Given the description of an element on the screen output the (x, y) to click on. 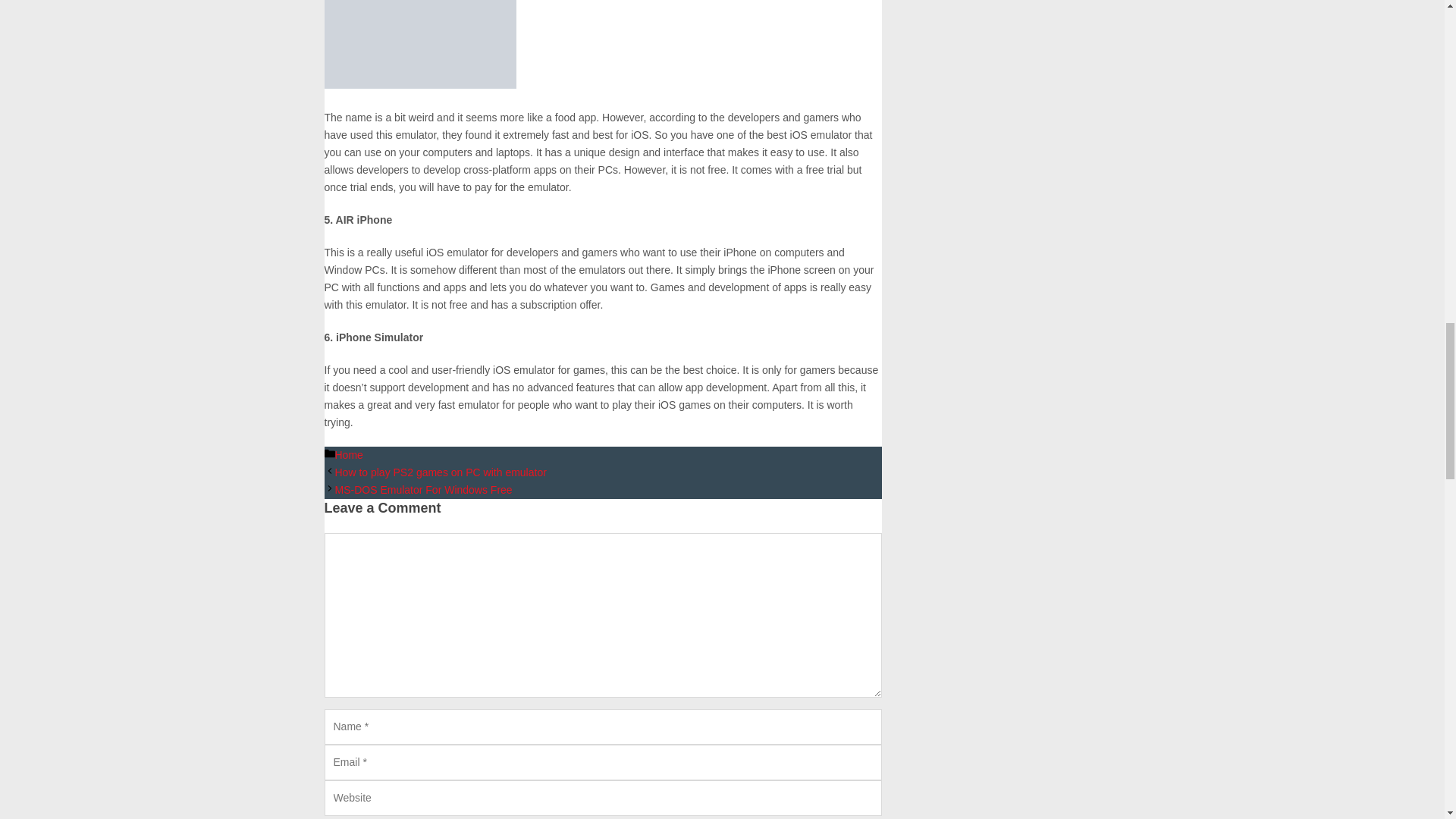
MS-DOS Emulator For Windows Free (423, 490)
Home (348, 454)
How to play PS2 games on PC with emulator (440, 472)
